Given the description of an element on the screen output the (x, y) to click on. 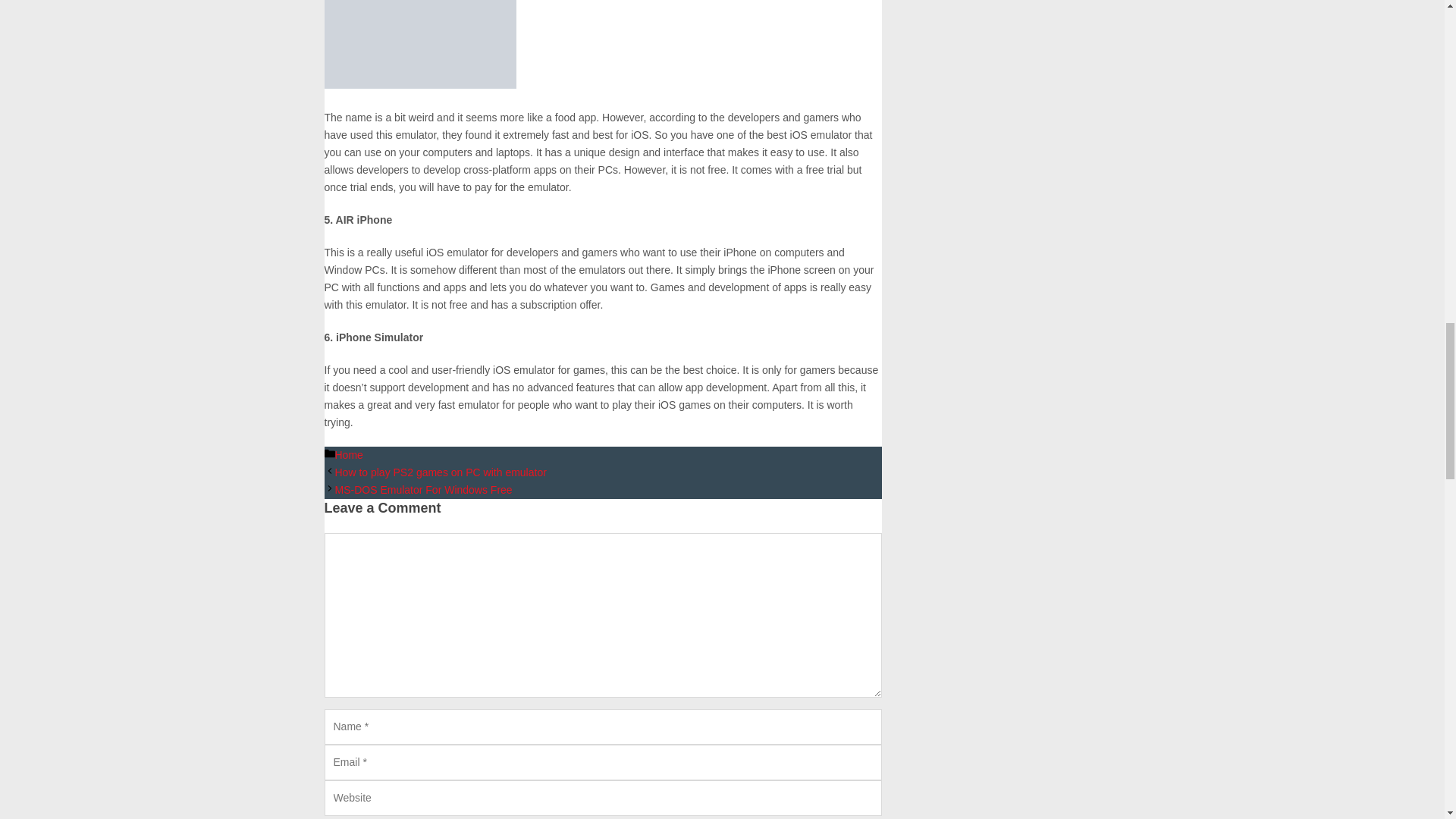
MS-DOS Emulator For Windows Free (423, 490)
Home (348, 454)
How to play PS2 games on PC with emulator (440, 472)
